Given the description of an element on the screen output the (x, y) to click on. 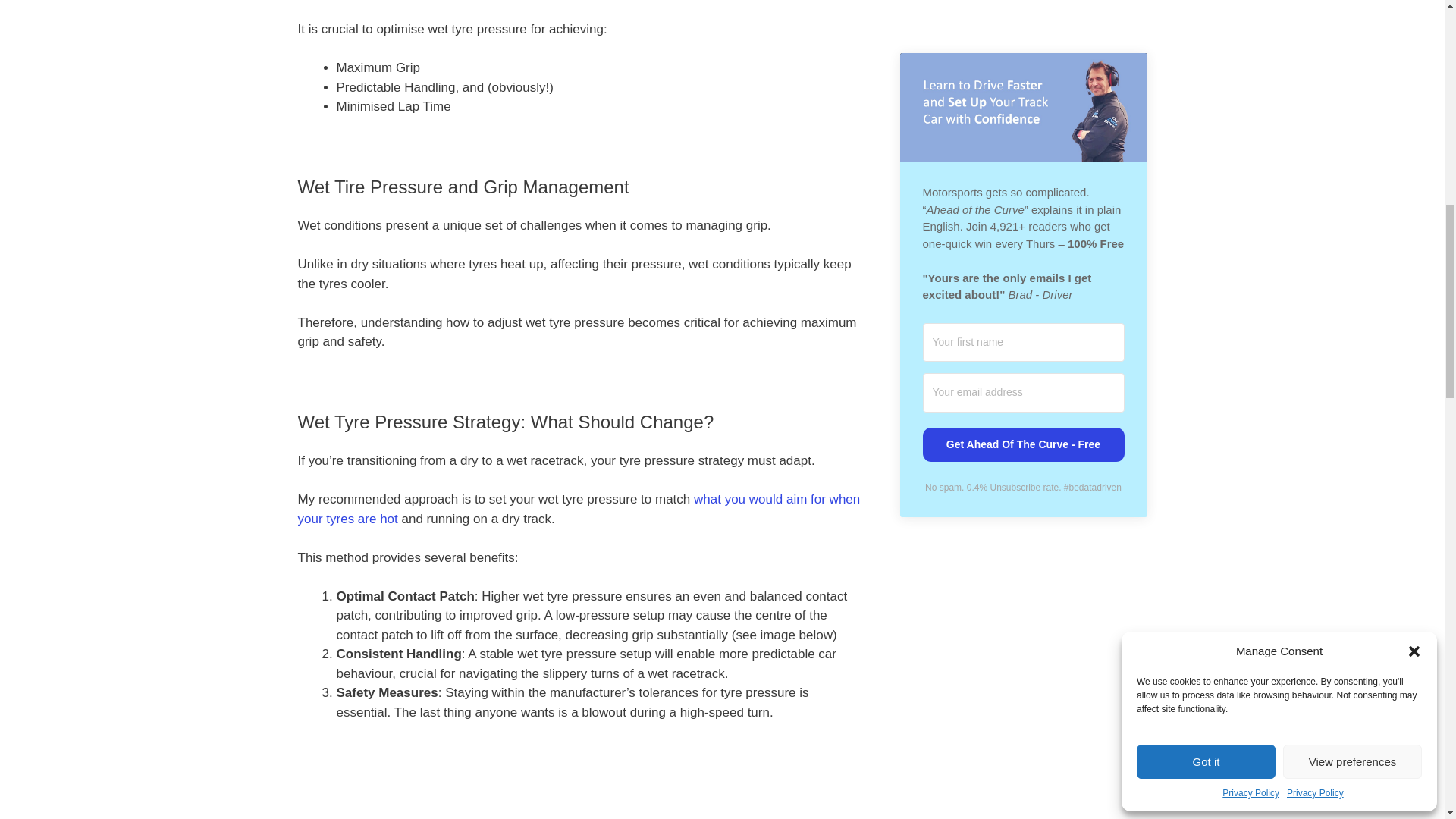
Wet Tyre Pressure: The Ultimate Guide for Maximum Grip 1 (579, 791)
